Given the description of an element on the screen output the (x, y) to click on. 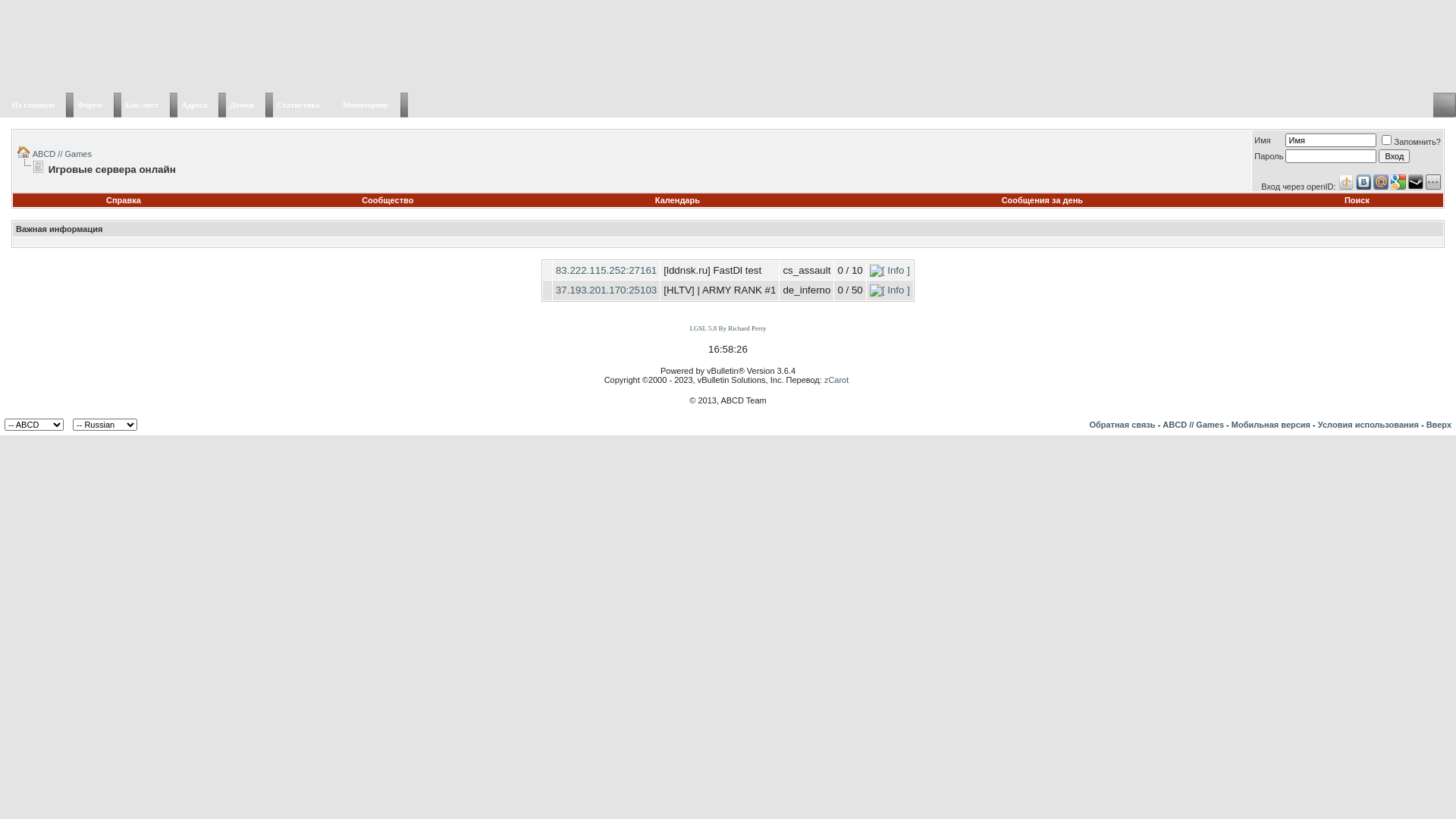
LGSL 5.8 By Richard Perry Element type: text (728, 328)
ABCD // Games Element type: text (61, 153)
zCarot Element type: text (836, 379)
37.193.201.170:25103 Element type: text (605, 289)
83.222.115.252:27161 Element type: text (605, 270)
ABCD // Games Element type: text (1192, 424)
